Given the description of an element on the screen output the (x, y) to click on. 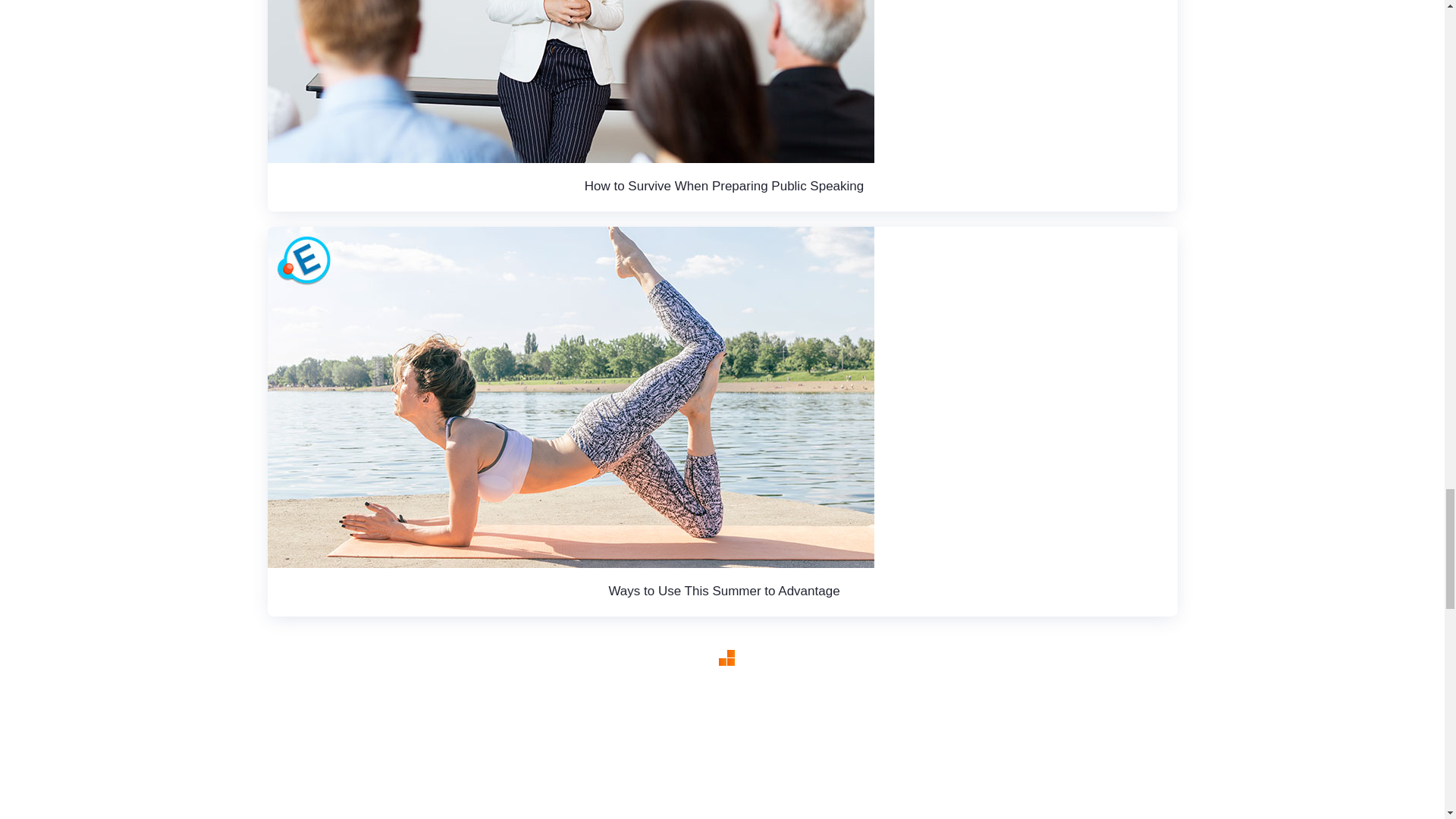
How to Survive When Preparing Public Speaking (569, 81)
Ways to Use This Summer to Advantage (724, 590)
How to Survive When Preparing Public Speaking (724, 186)
